Given the description of an element on the screen output the (x, y) to click on. 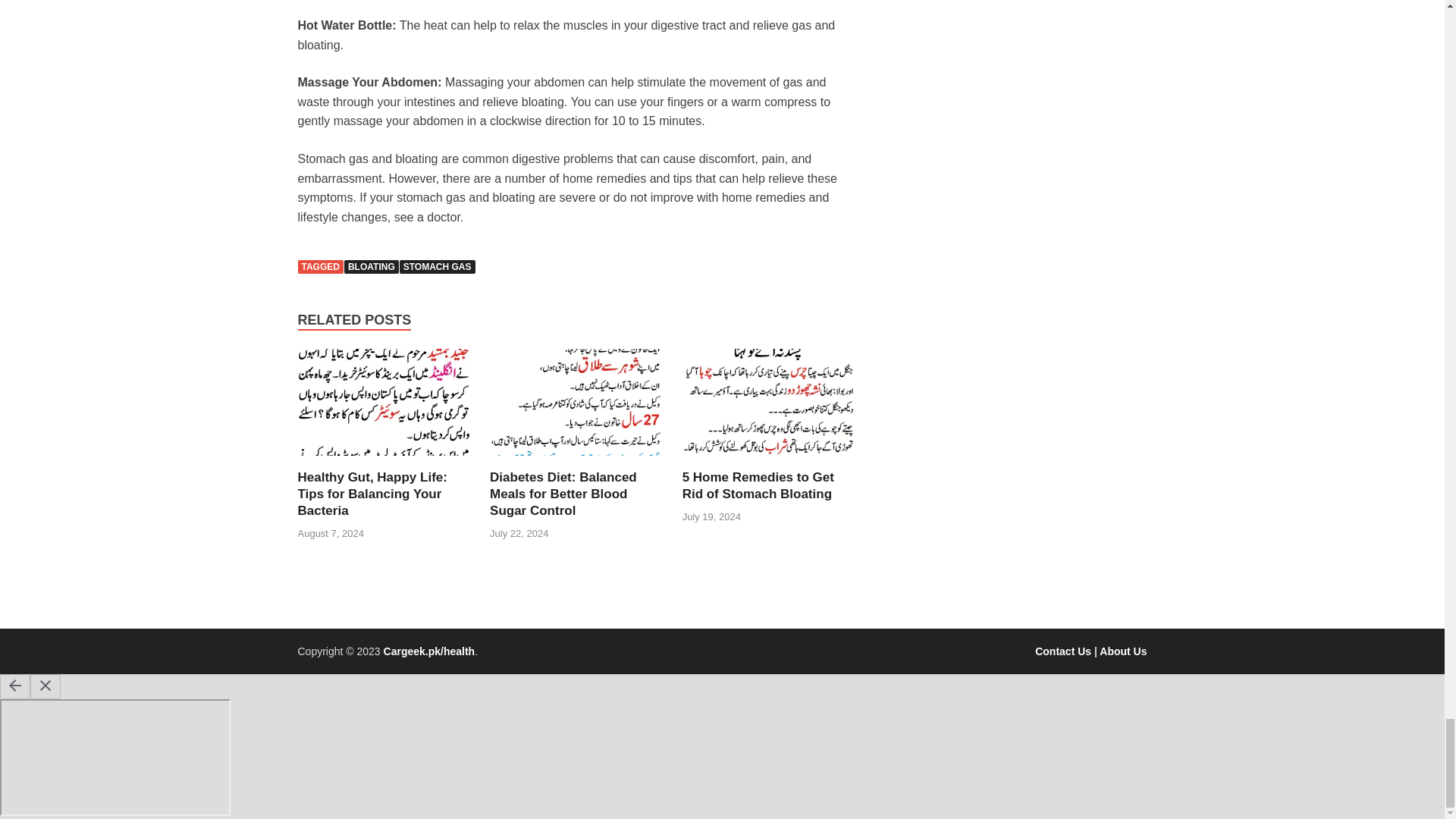
Diabetes Diet: Balanced Meals for Better Blood Sugar Control (575, 459)
BLOATING (370, 266)
Healthy Gut, Happy Life: Tips for Balancing Your Bacteria (371, 493)
Healthy Gut, Happy Life: Tips for Balancing Your Bacteria (383, 459)
Diabetes Diet: Balanced Meals for Better Blood Sugar Control (563, 493)
Diabetes Diet: Balanced Meals for Better Blood Sugar Control (563, 493)
Healthy Gut, Happy Life: Tips for Balancing Your Bacteria (371, 493)
STOMACH GAS (437, 266)
5 Home Remedies to Get Rid of Stomach Bloating (758, 485)
5 Home Remedies to Get Rid of Stomach Bloating (758, 485)
